Given the description of an element on the screen output the (x, y) to click on. 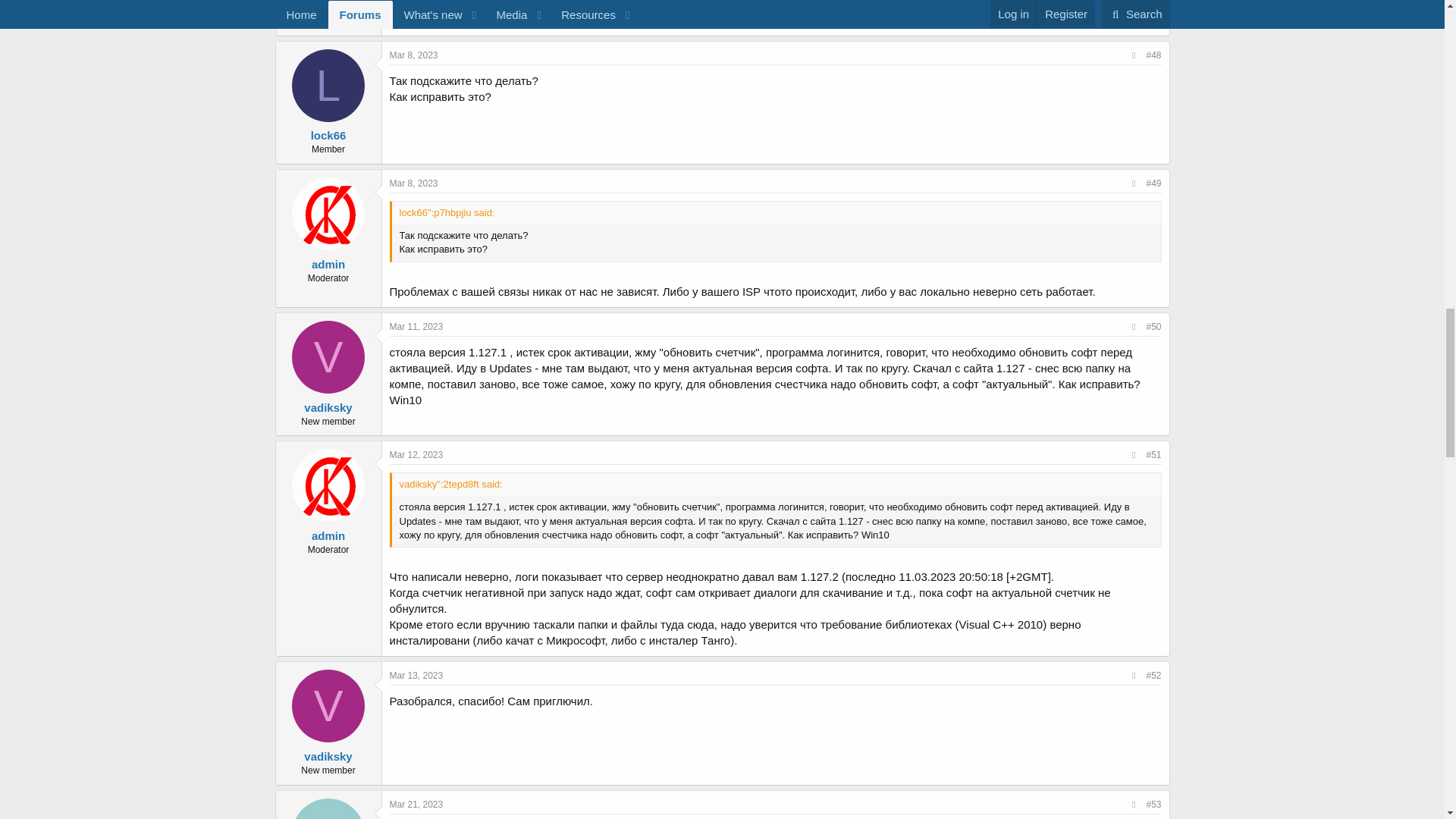
Mar 8, 2023 at 2:11 PM (414, 183)
Mar 13, 2023 at 7:57 AM (417, 675)
Mar 12, 2023 at 4:17 PM (417, 454)
Mar 8, 2023 at 1:46 PM (414, 54)
Mar 11, 2023 at 6:51 PM (417, 326)
